Given the description of an element on the screen output the (x, y) to click on. 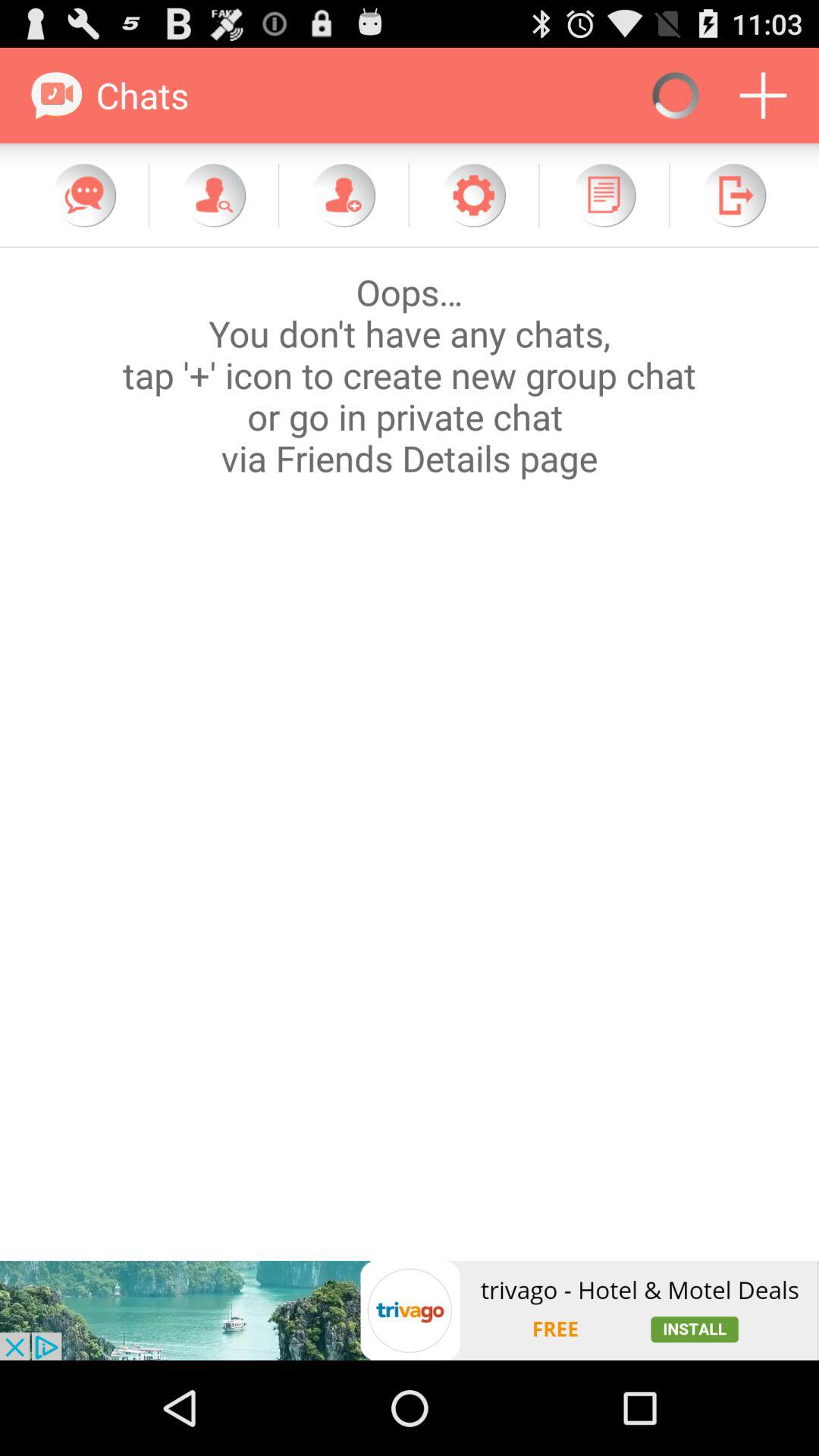
go next (734, 194)
